Given the description of an element on the screen output the (x, y) to click on. 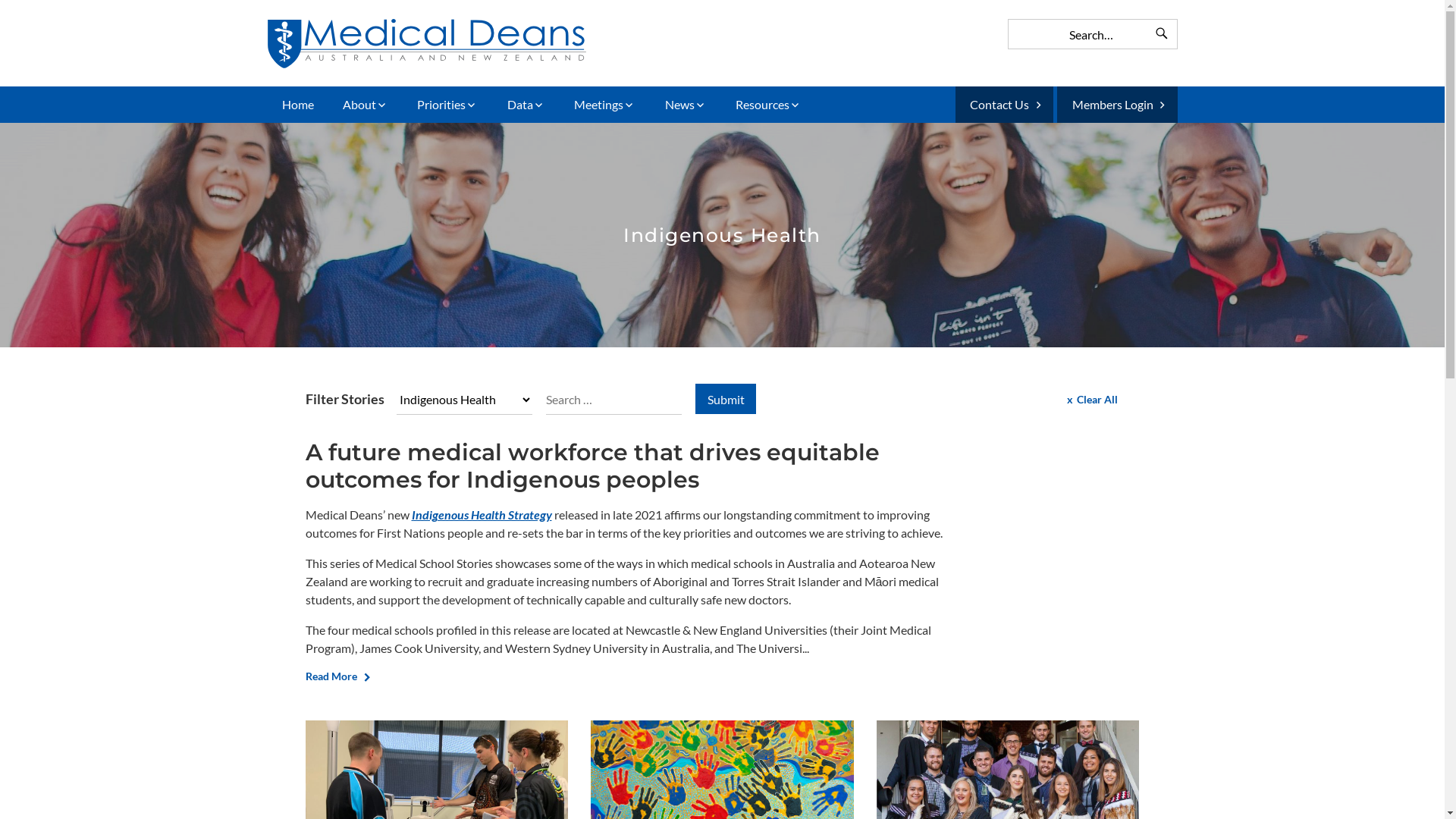
About Element type: text (365, 104)
News Element type: text (684, 104)
Resources Element type: text (768, 104)
Read More Element type: text (330, 676)
Data Element type: text (525, 104)
Submit Element type: text (725, 398)
Priorities Element type: text (447, 104)
Indigenous Health Strategy Element type: text (481, 514)
Search Element type: hover (1160, 33)
Contact Us Element type: text (1004, 104)
Members Login Element type: text (1116, 104)
Meetings Element type: text (604, 104)
Clear All Element type: text (1091, 399)
Home Element type: text (296, 104)
